Given the description of an element on the screen output the (x, y) to click on. 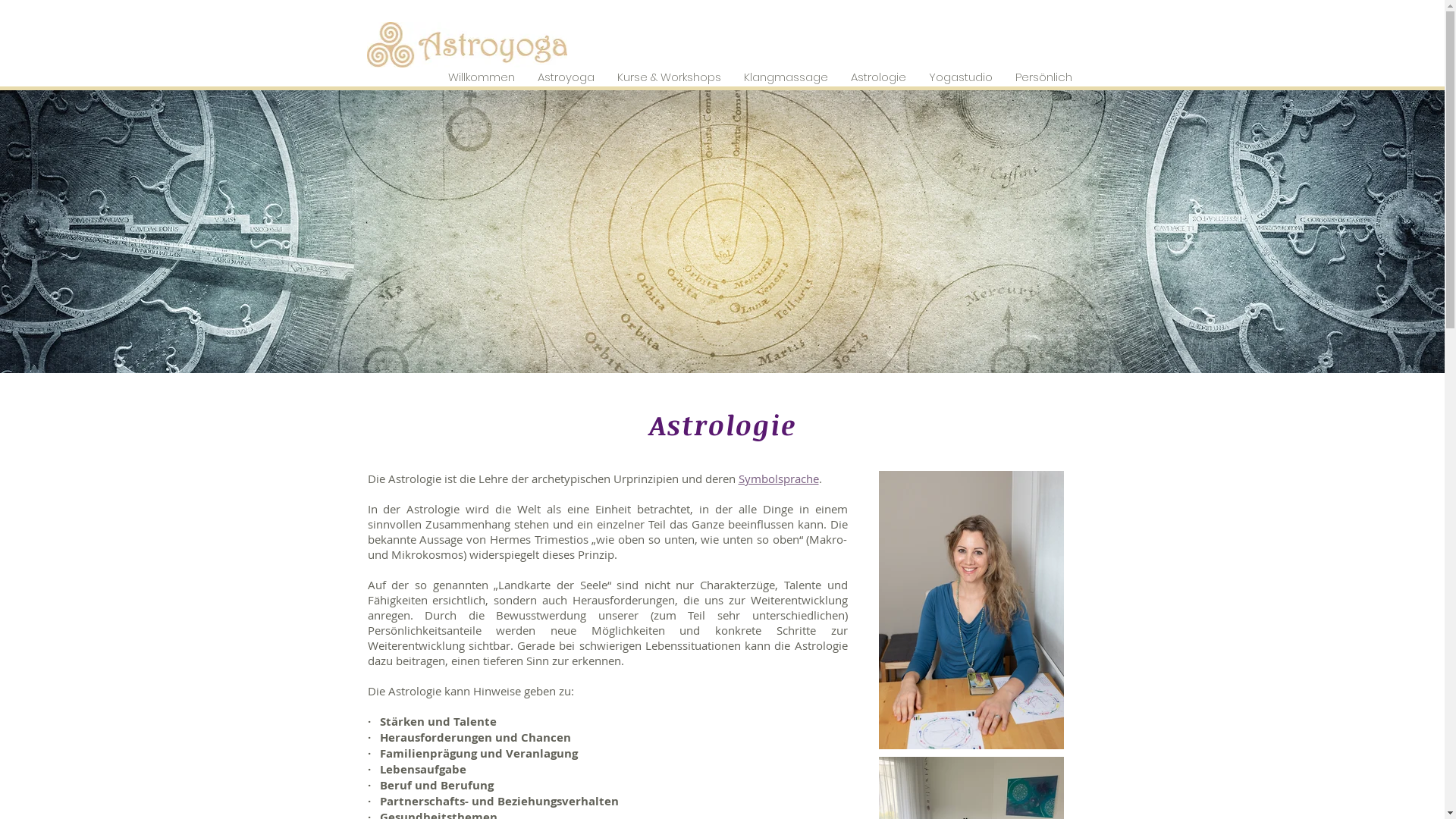
Symbolsprache Element type: text (778, 478)
